Given the description of an element on the screen output the (x, y) to click on. 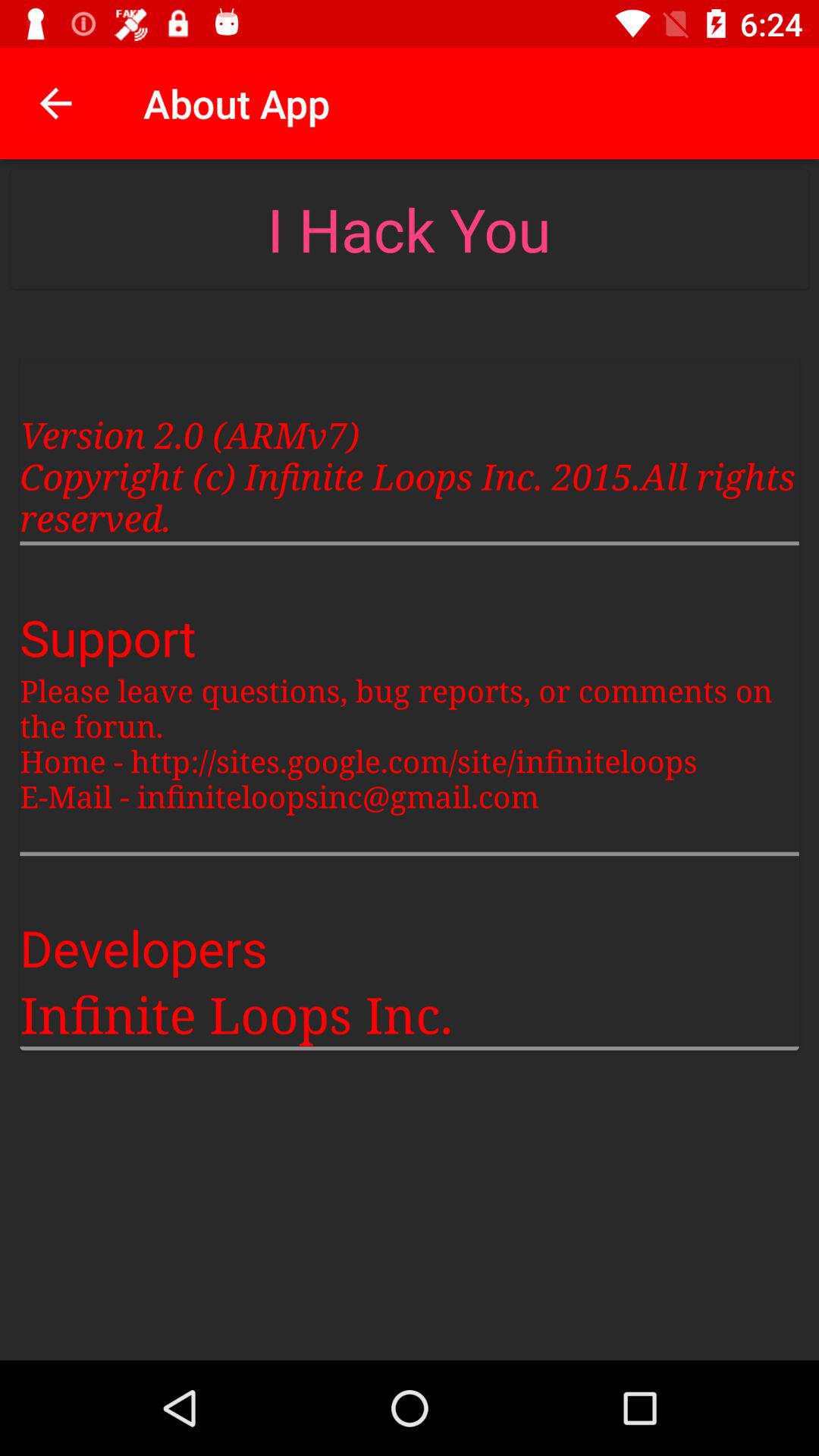
tap the icon above version 2 0 (409, 229)
